Given the description of an element on the screen output the (x, y) to click on. 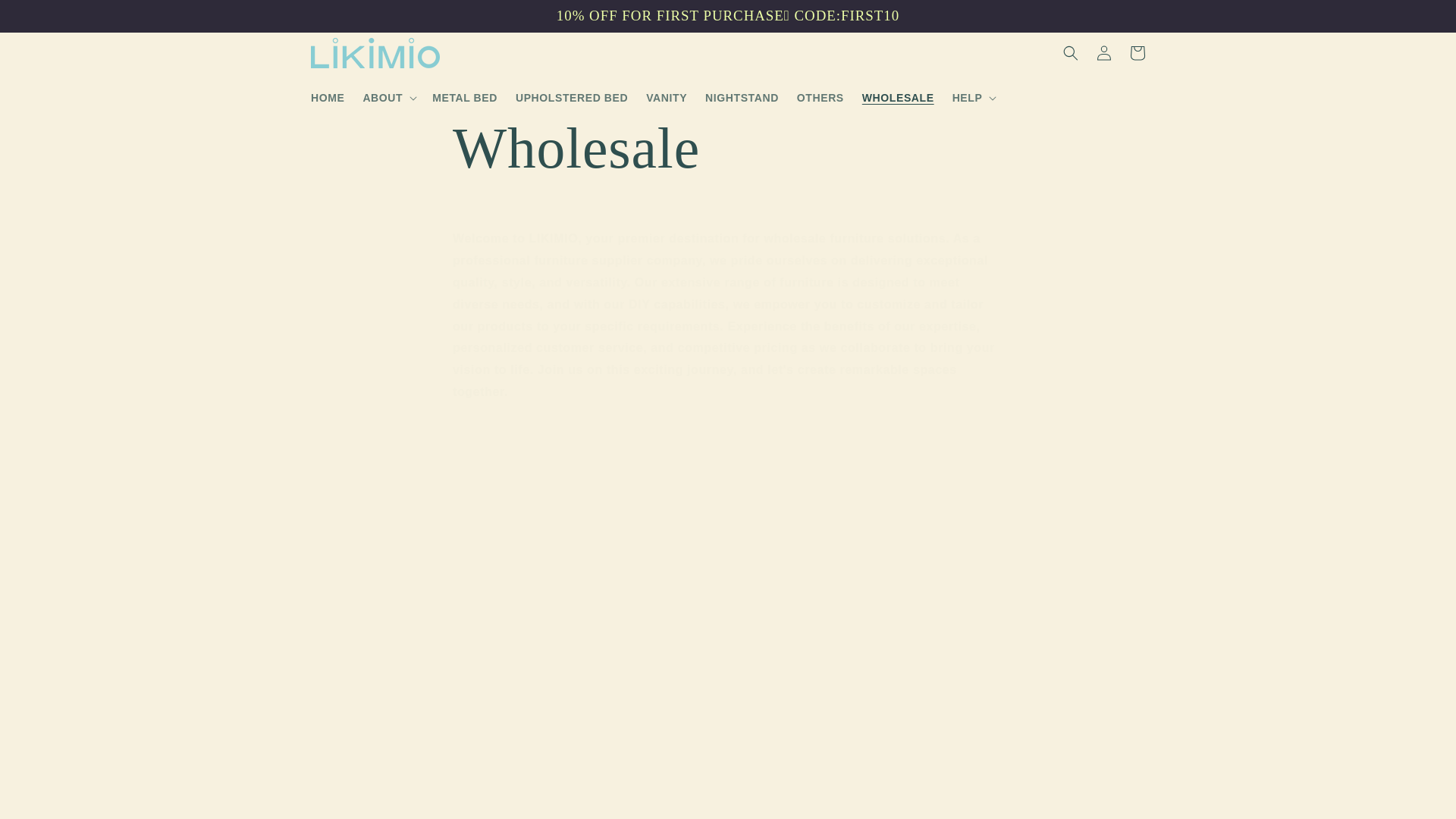
NIGHTSTAND (741, 97)
Skip to content (47, 18)
OTHERS (820, 97)
METAL BED (464, 97)
WHOLESALE (898, 97)
Log in (1104, 52)
HOME (327, 97)
UPHOLSTERED BED (571, 97)
Wholesale (727, 147)
